Given the description of an element on the screen output the (x, y) to click on. 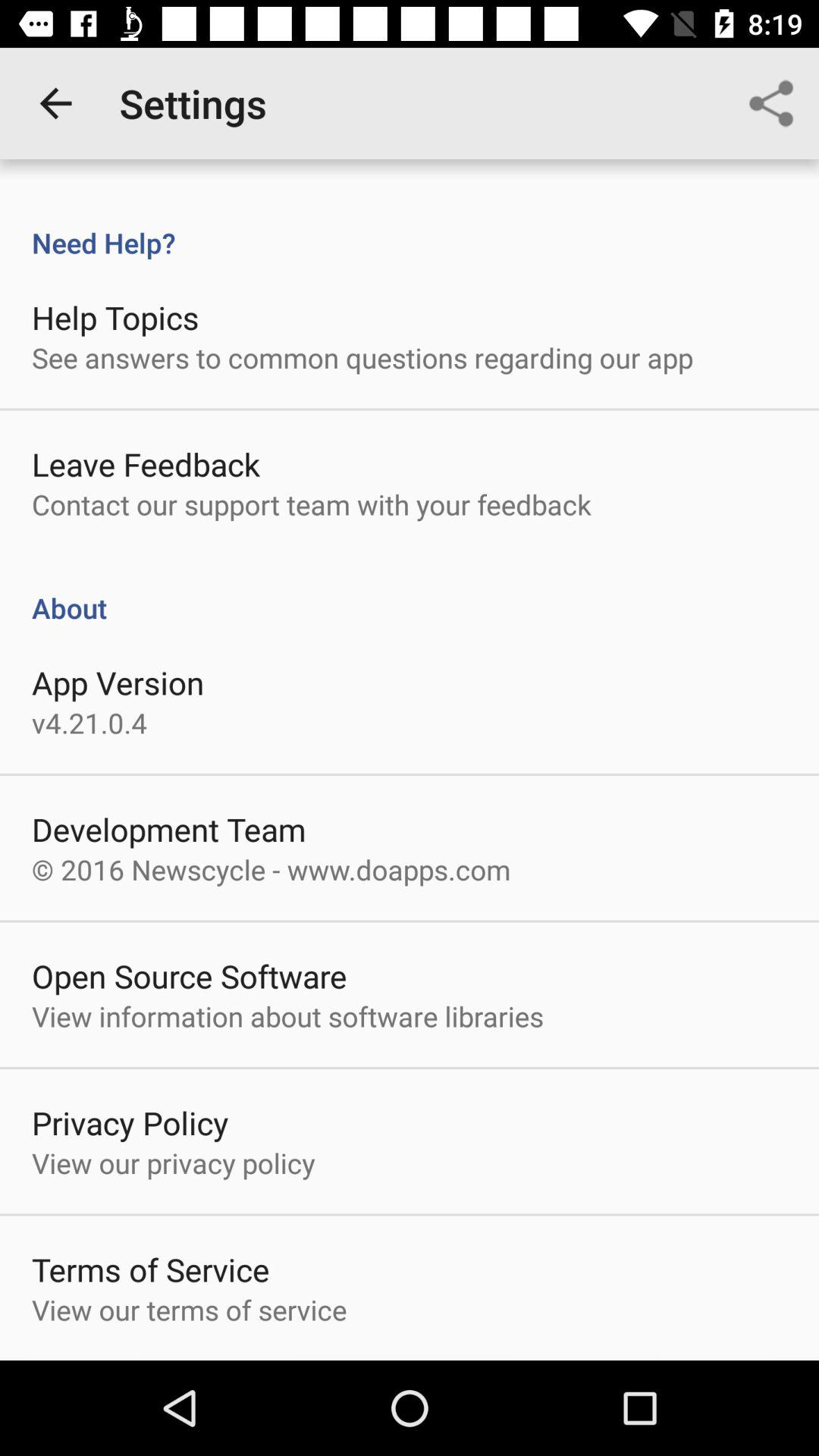
press help topics item (115, 316)
